Given the description of an element on the screen output the (x, y) to click on. 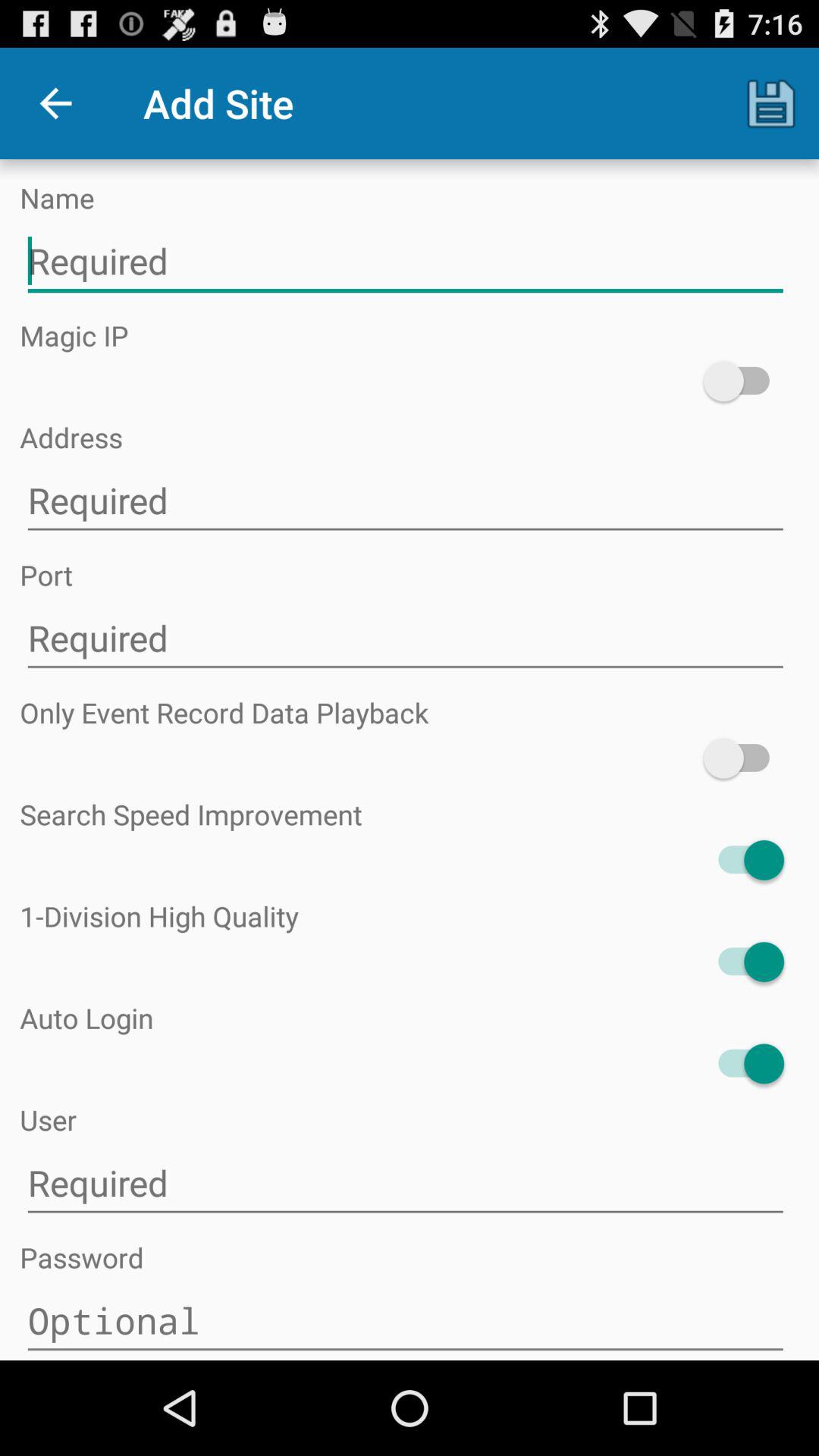
launch item above the name icon (55, 103)
